Given the description of an element on the screen output the (x, y) to click on. 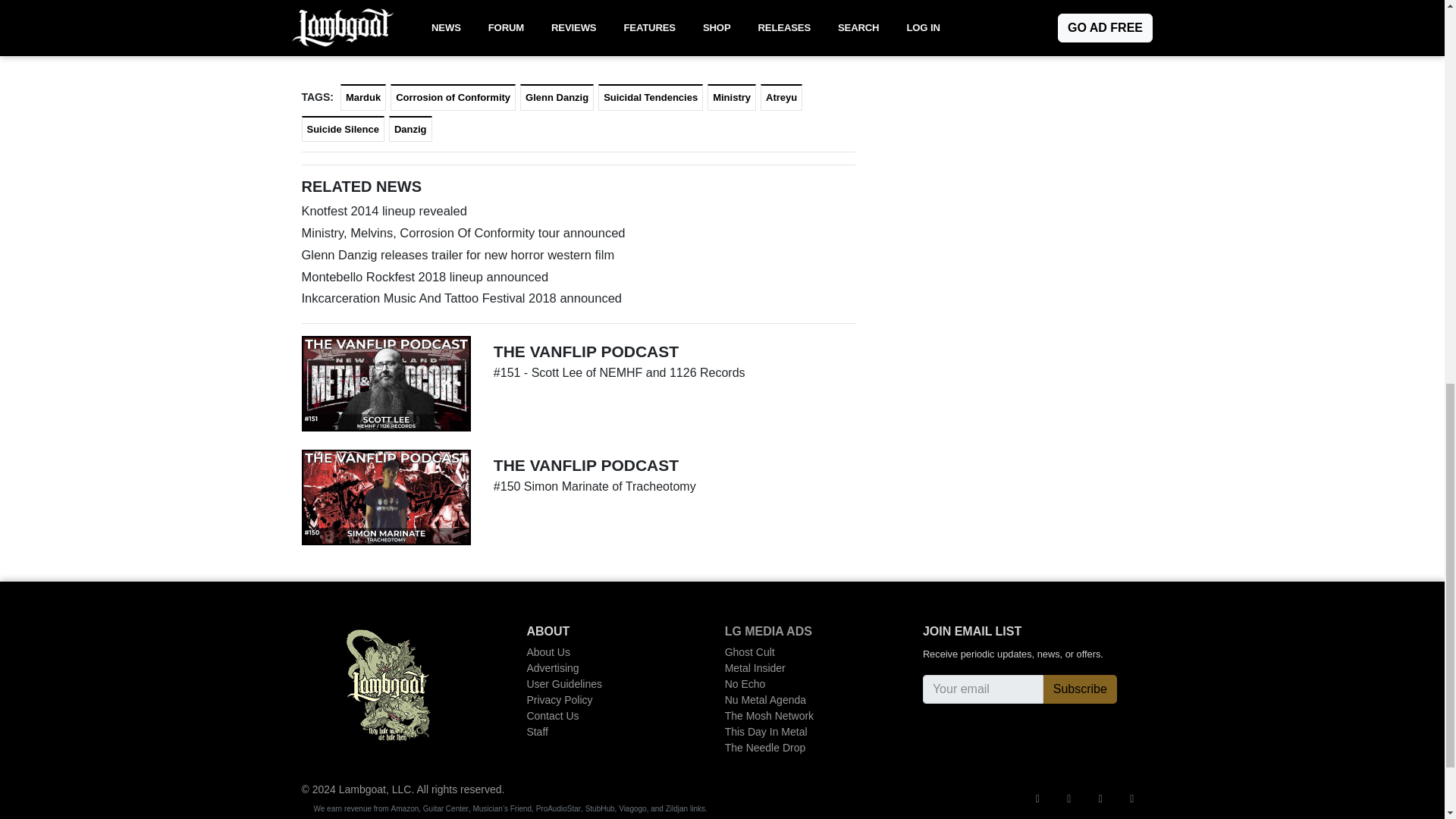
Ministry, Melvins, Corrosion Of Conformity tour announced (578, 232)
17 COMMENTS (366, 49)
Knotfest 2014 lineup revealed (578, 210)
Danzig (410, 129)
Corrosion of Conformity (452, 97)
Atreyu (781, 97)
Ministry (731, 97)
Suicidal Tendencies (650, 97)
Suicide Silence (342, 129)
Glenn Danzig (556, 97)
Montebello Rockfest 2018 lineup announced (578, 276)
Marduk (362, 97)
Inkcarceration Music And Tattoo Festival 2018 announced (578, 298)
Glenn Danzig releases trailer for new horror western film (578, 254)
Subscribe (1079, 688)
